Given the description of an element on the screen output the (x, y) to click on. 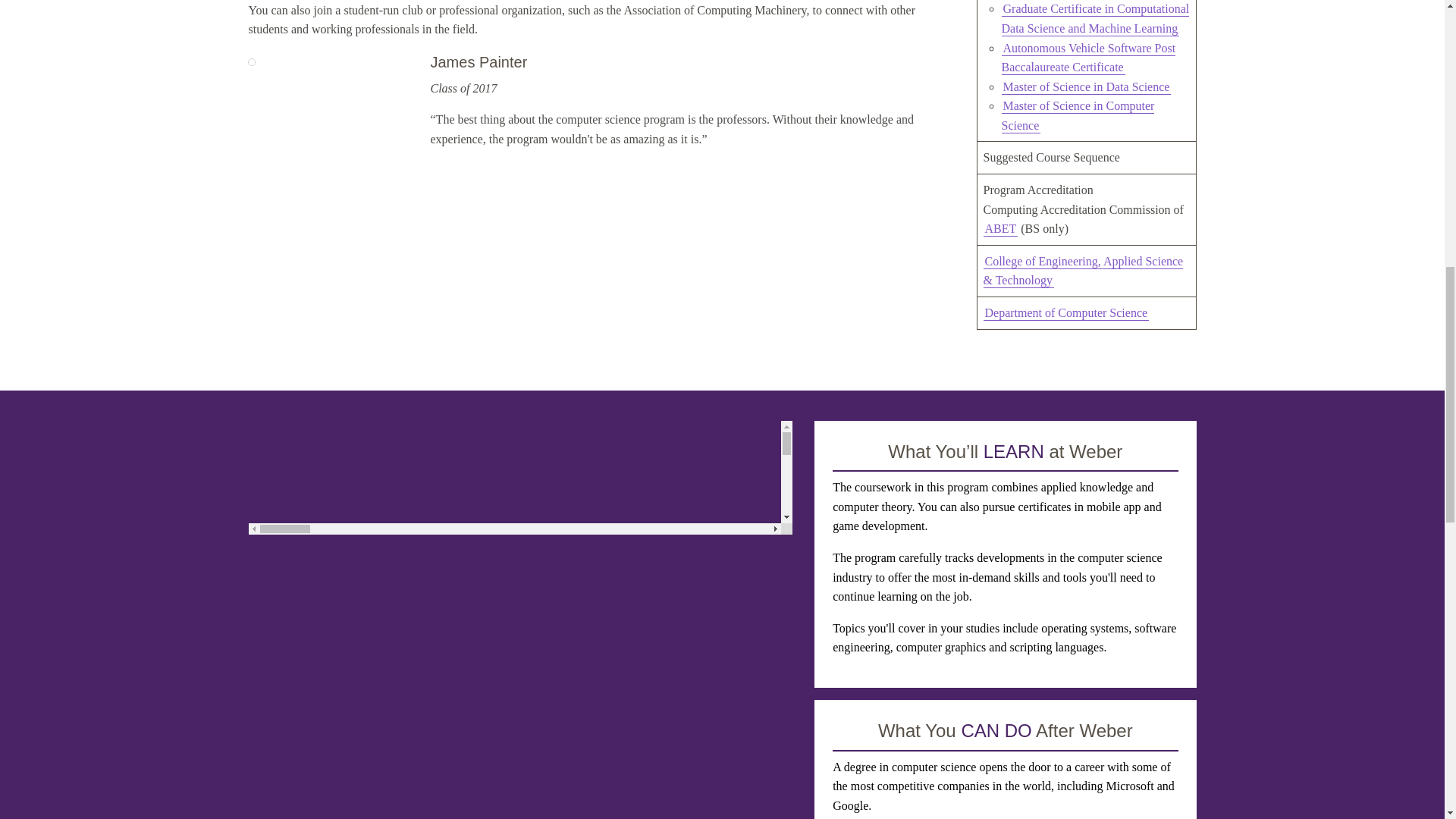
weber widget (520, 477)
